Given the description of an element on the screen output the (x, y) to click on. 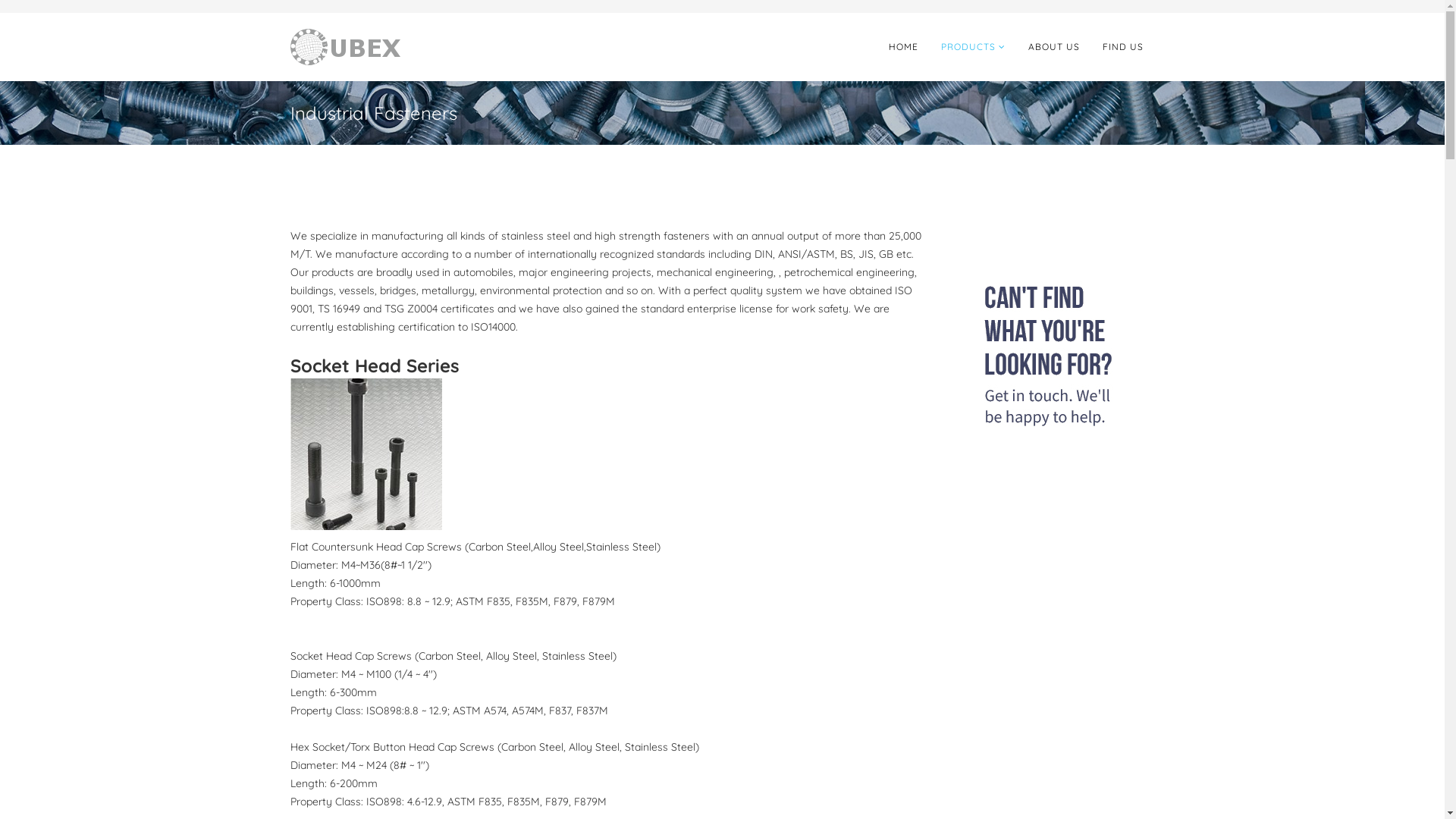
ABOUT US Element type: text (1053, 46)
HOME Element type: text (902, 46)
PRODUCTS Element type: text (972, 46)
FIND US Element type: text (1122, 46)
